Given the description of an element on the screen output the (x, y) to click on. 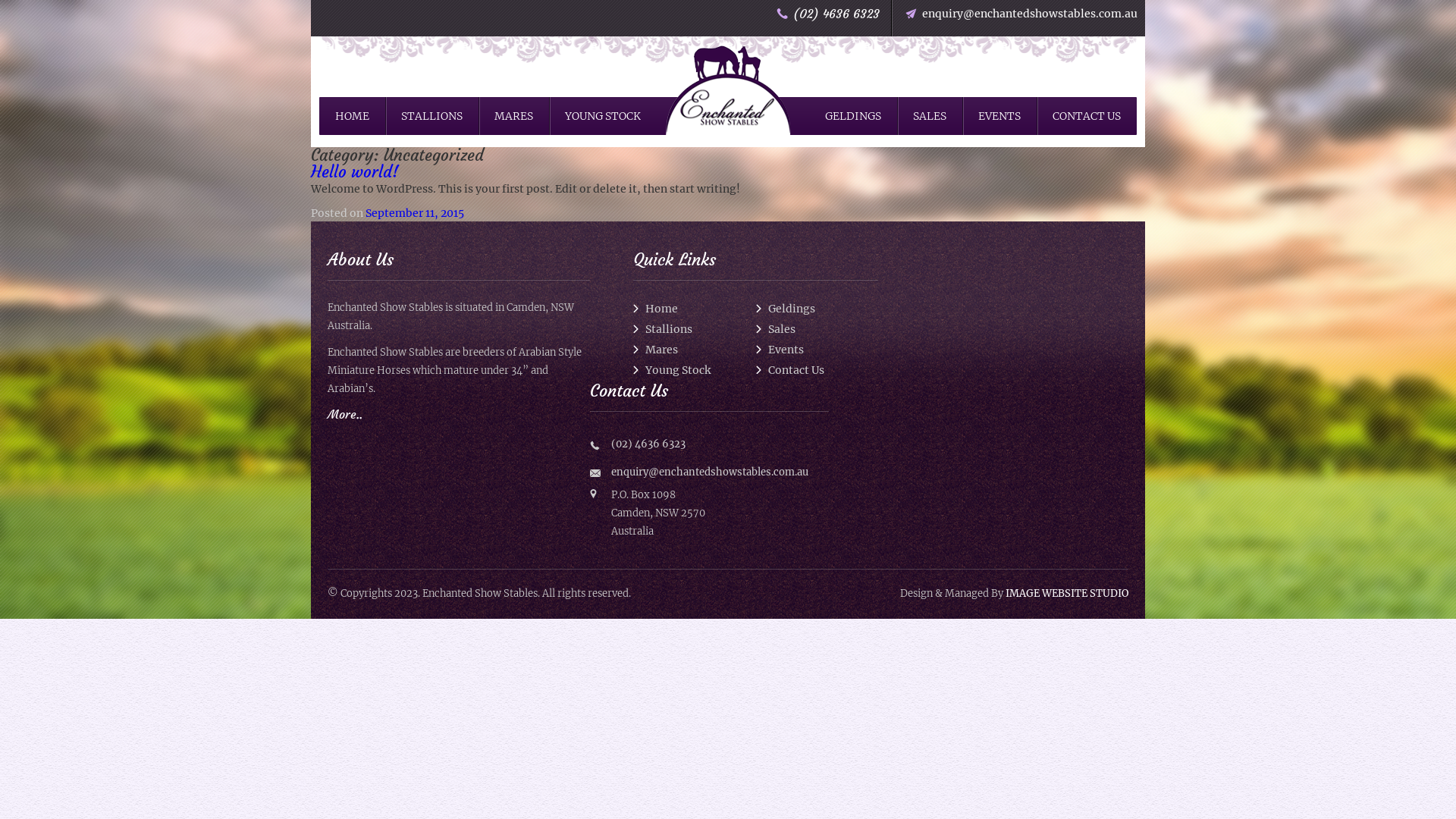
(02) 4636 6323 Element type: text (719, 443)
Young Stock Element type: text (671, 369)
Events Element type: text (779, 349)
CONTACT US Element type: text (1086, 115)
(02) 4636 6323 Element type: text (836, 13)
enquiry@enchantedshowstables.com.au Element type: text (1025, 13)
EVENTS Element type: text (999, 115)
Geldings Element type: text (784, 308)
IMAGE WEBSITE STUDIO Element type: text (1066, 592)
Mares Element type: text (655, 349)
SALES Element type: text (929, 115)
HOME Element type: text (352, 115)
Hello world! Element type: text (354, 171)
MARES Element type: text (513, 115)
Contact Us Element type: text (789, 369)
Home Element type: text (655, 308)
enquiry@enchantedshowstables.com.au Element type: text (708, 471)
Stallions Element type: text (662, 328)
September 11, 2015 Element type: text (414, 212)
More.. Element type: text (344, 413)
GELDINGS Element type: text (853, 115)
YOUNG STOCK Element type: text (602, 115)
STALLIONS Element type: text (431, 115)
Sales Element type: text (774, 328)
